Given the description of an element on the screen output the (x, y) to click on. 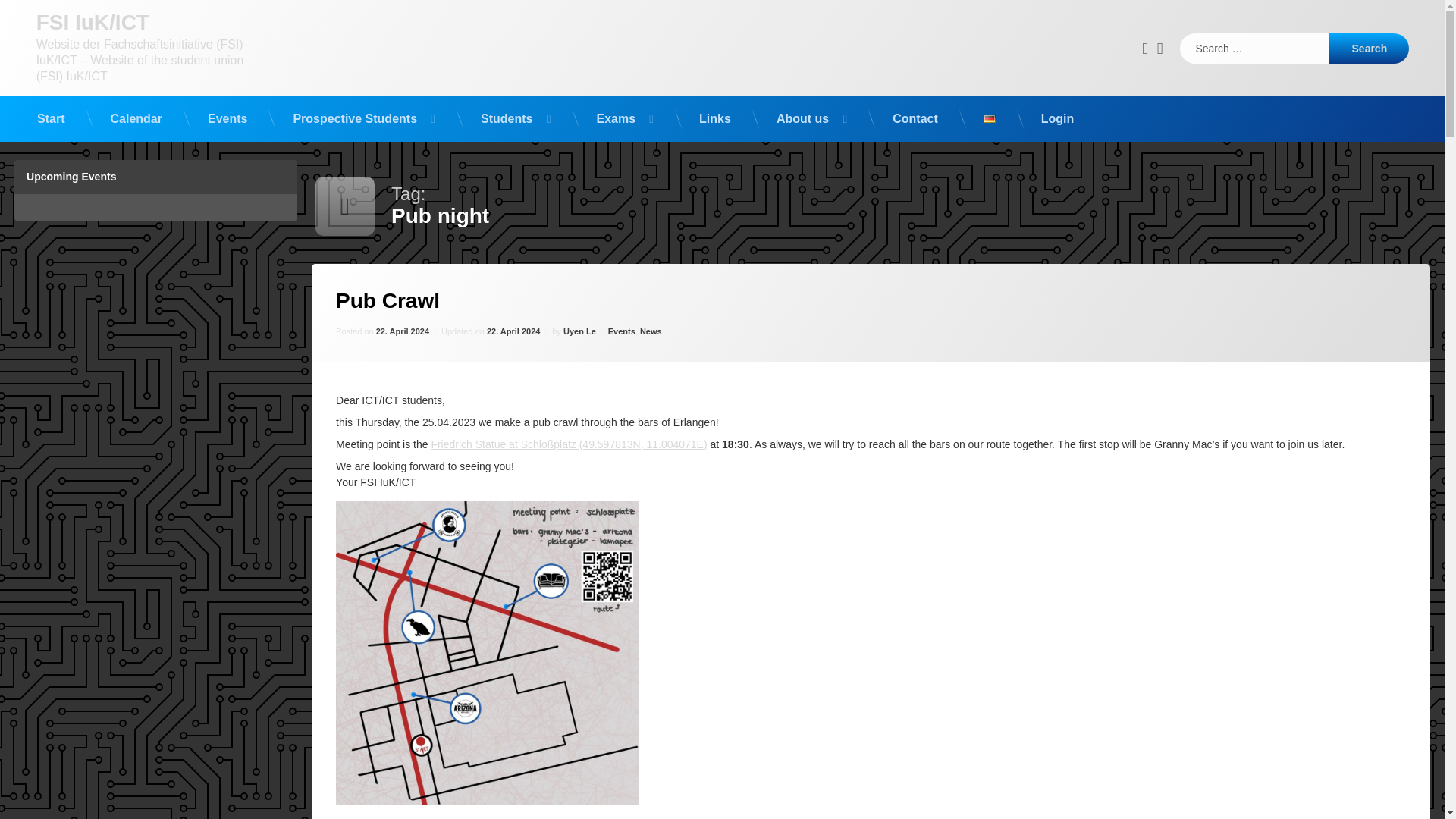
Login (1057, 119)
Events (227, 119)
Exams (624, 119)
Prospective Students (363, 119)
Contact (915, 119)
Upcoming Events (155, 190)
Pub Crawl (387, 318)
22. April 2024 (513, 339)
Events (621, 334)
Links (714, 119)
About us (1160, 48)
22. April 2024 (811, 119)
Search (402, 342)
Calendar (1369, 48)
